Given the description of an element on the screen output the (x, y) to click on. 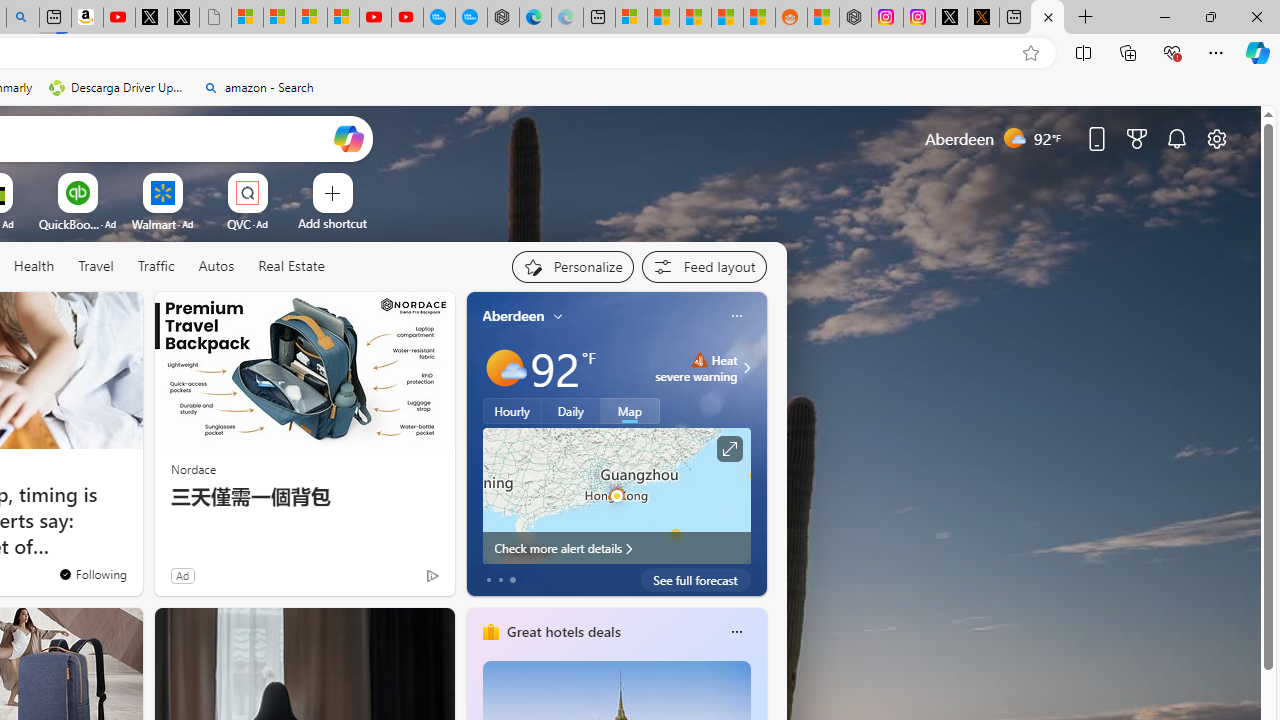
Travel (95, 267)
Hourly (511, 411)
tab-0 (488, 579)
Mostly sunny (504, 368)
hotels-header-icon (490, 632)
Page settings (1216, 138)
Shanghai, China hourly forecast | Microsoft Weather (694, 17)
